Given the description of an element on the screen output the (x, y) to click on. 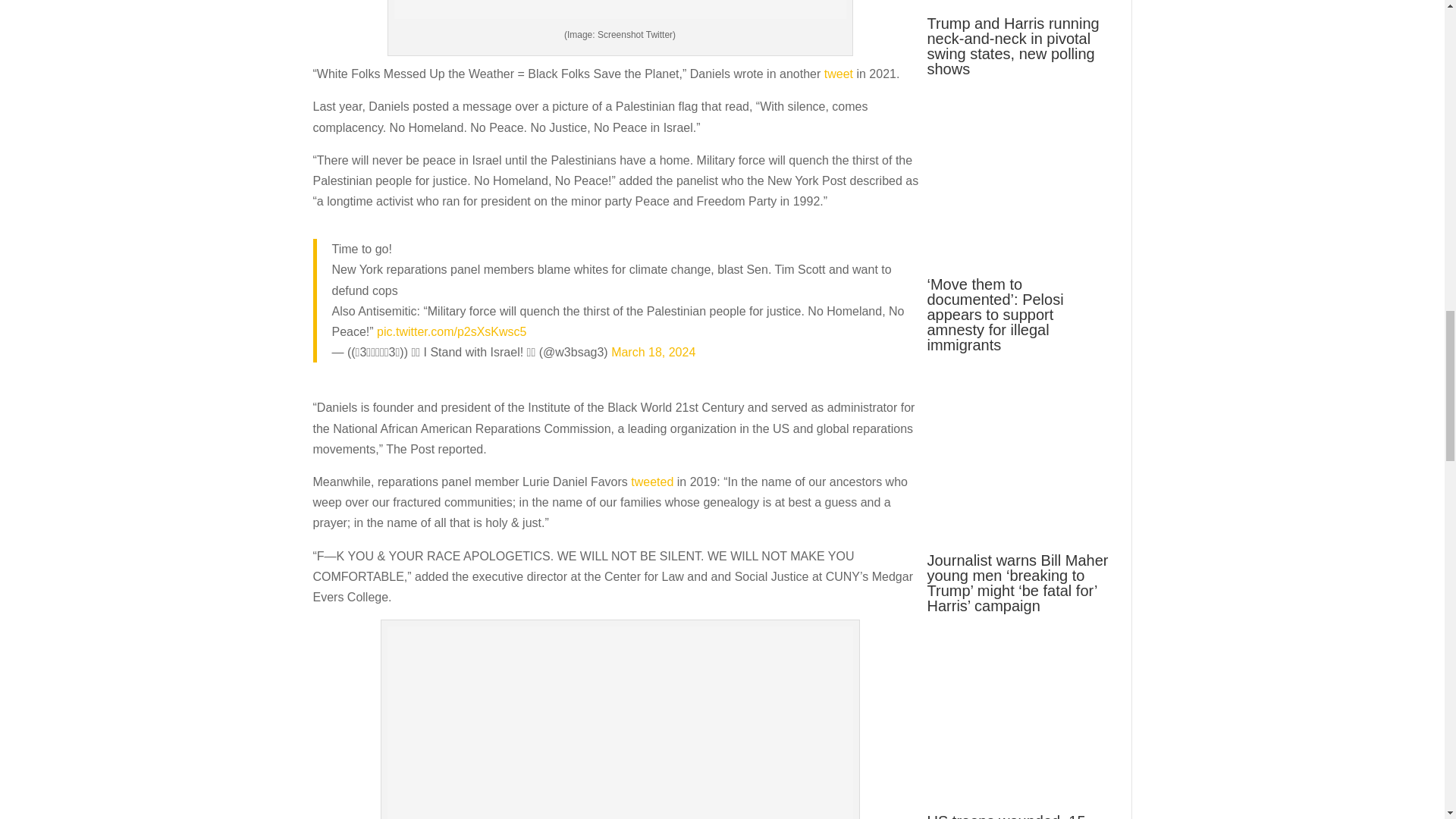
tweet (838, 73)
tweeted (651, 481)
March 18, 2024 (653, 351)
